Given the description of an element on the screen output the (x, y) to click on. 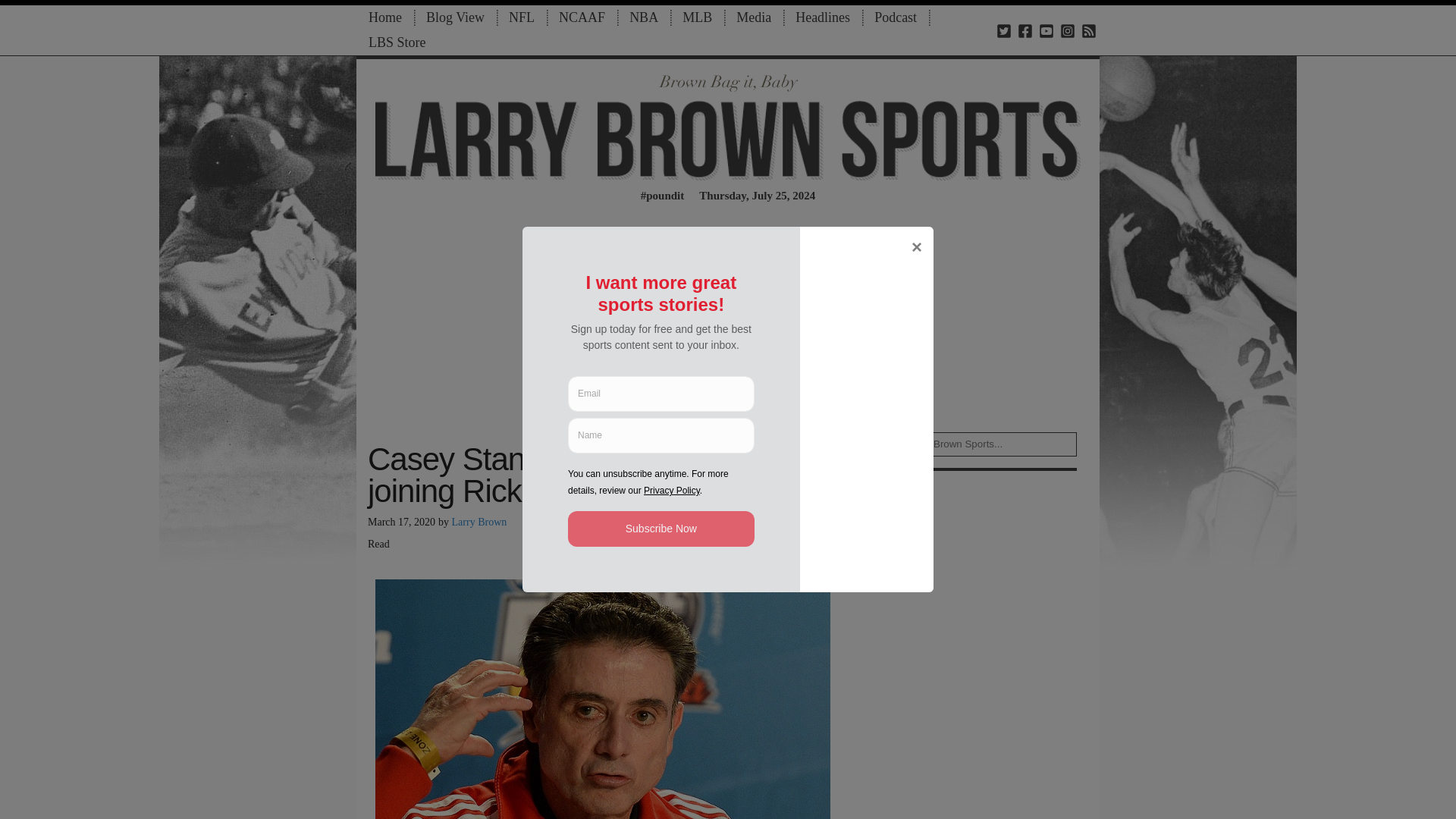
Flipboard (697, 526)
View Larry Brown Sports Twitter (1003, 29)
NFL (521, 17)
Headlines (822, 17)
NBA (643, 17)
Larry Brown (478, 521)
Subscribe to Larry Brown Sports RSS Feed (1088, 29)
Share (616, 526)
MLB (696, 17)
Facebook (644, 526)
View Larry Brown Sports Facebook (1024, 29)
Blog View (454, 17)
Home (384, 17)
Twitter (671, 526)
View Larry Brown Sports Instagram (1067, 29)
